Given the description of an element on the screen output the (x, y) to click on. 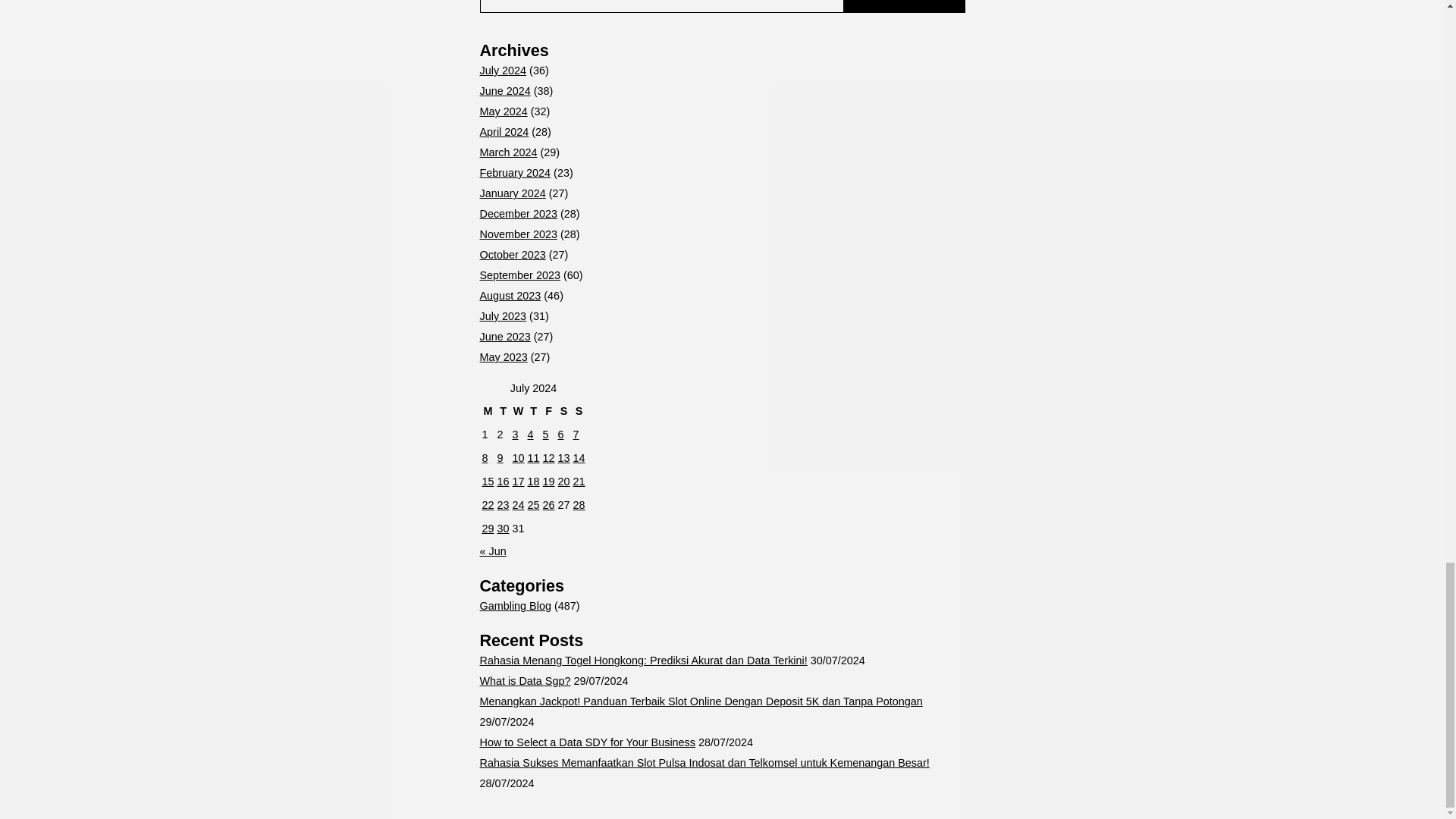
Search (903, 6)
18 (533, 481)
Search (903, 6)
July 2023 (502, 316)
14 (579, 458)
11 (533, 458)
September 2023 (519, 275)
May 2024 (503, 111)
March 2024 (508, 152)
August 2023 (509, 295)
June 2023 (504, 336)
13 (563, 458)
June 2024 (504, 91)
February 2024 (514, 173)
16 (503, 481)
